Given the description of an element on the screen output the (x, y) to click on. 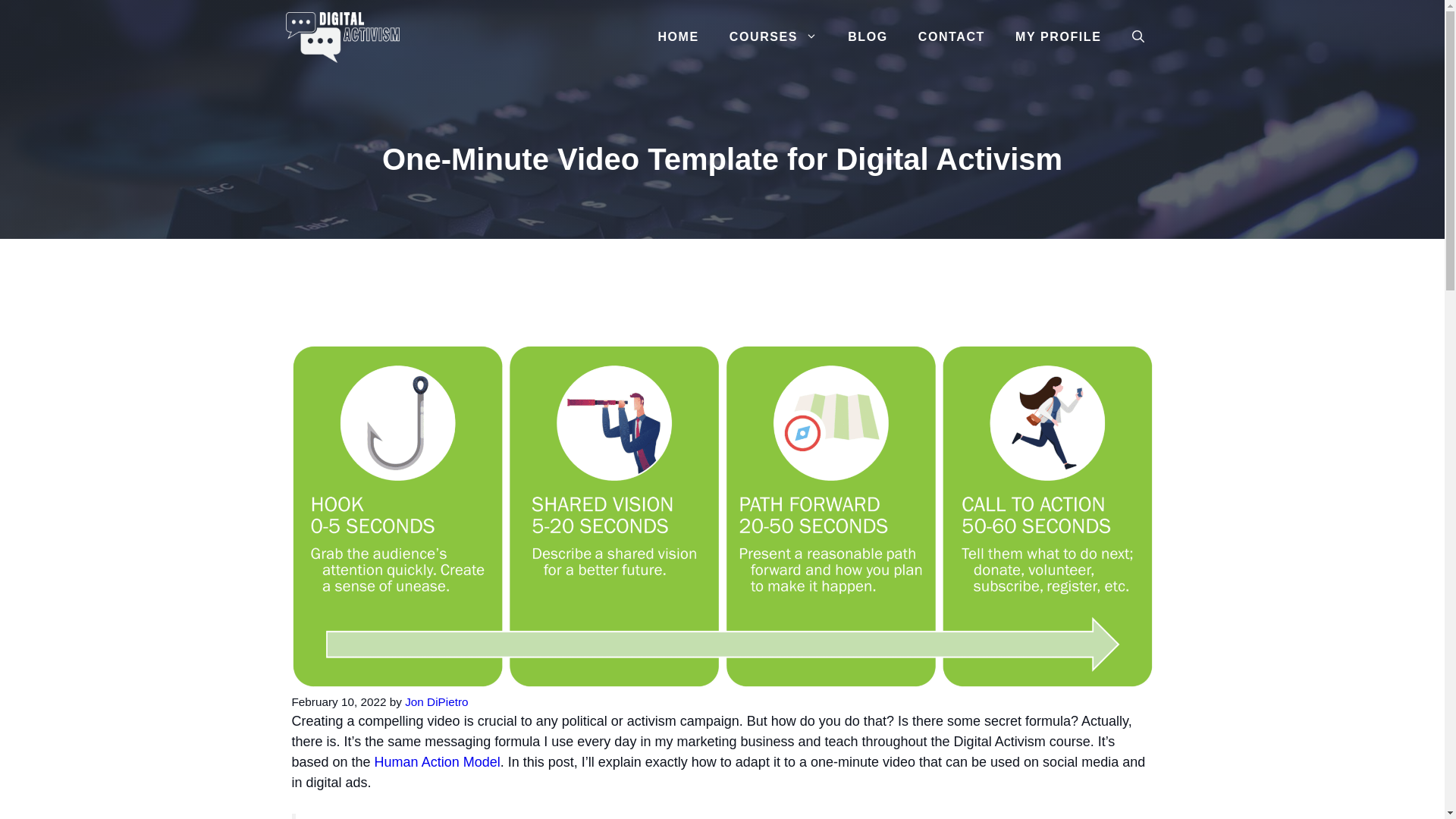
MY PROFILE (1058, 37)
Human Action Model (437, 761)
Jon DiPietro (435, 701)
HOME (677, 37)
View all posts by Jon DiPietro (435, 701)
BLOG (867, 37)
COURSES (773, 37)
CONTACT (951, 37)
